Given the description of an element on the screen output the (x, y) to click on. 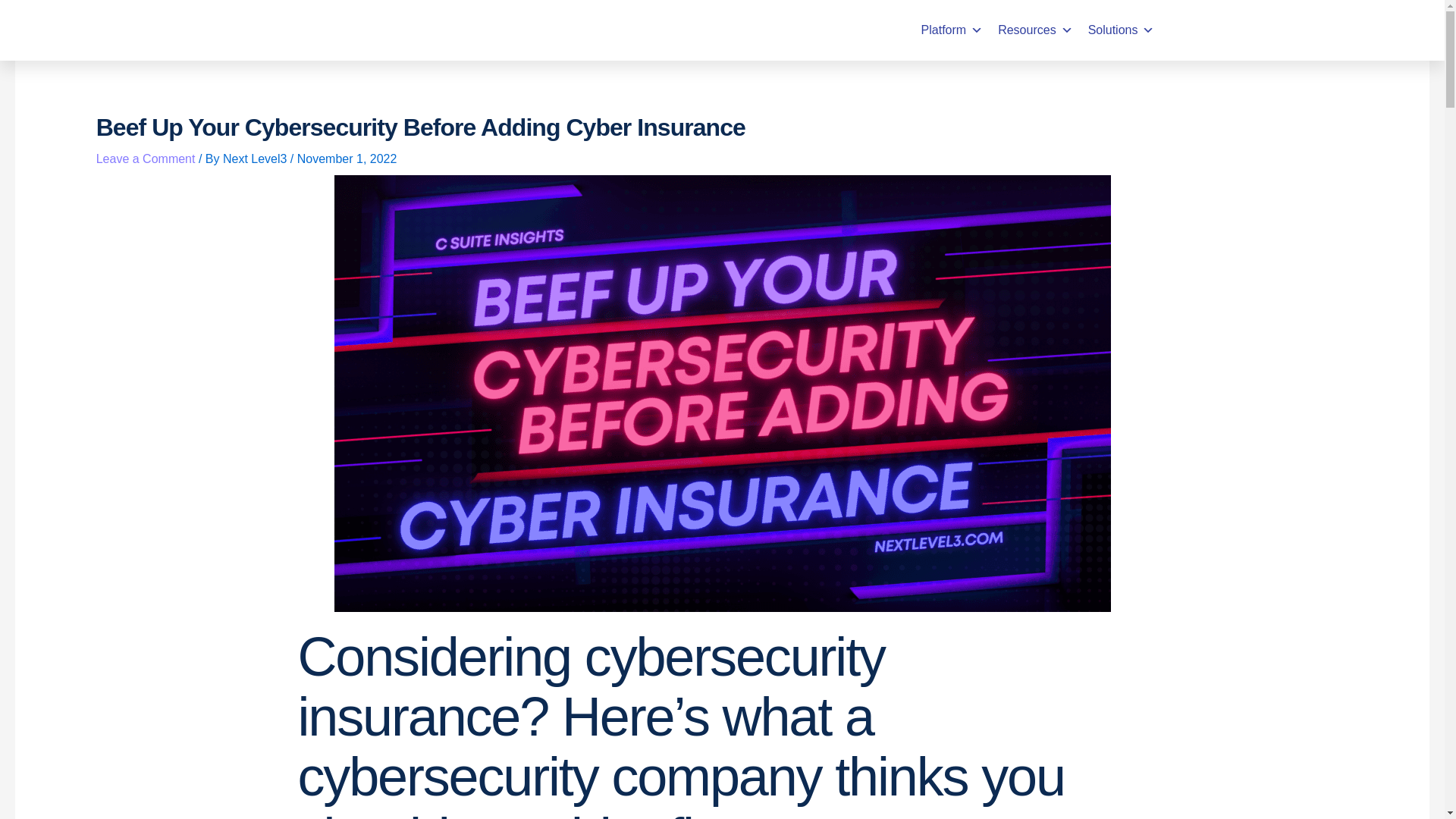
Solutions (1120, 30)
Platform (952, 30)
View all posts by Next Level3 (255, 158)
Resources (1035, 30)
Next Level3 (255, 158)
Leave a Comment (145, 158)
